Given the description of an element on the screen output the (x, y) to click on. 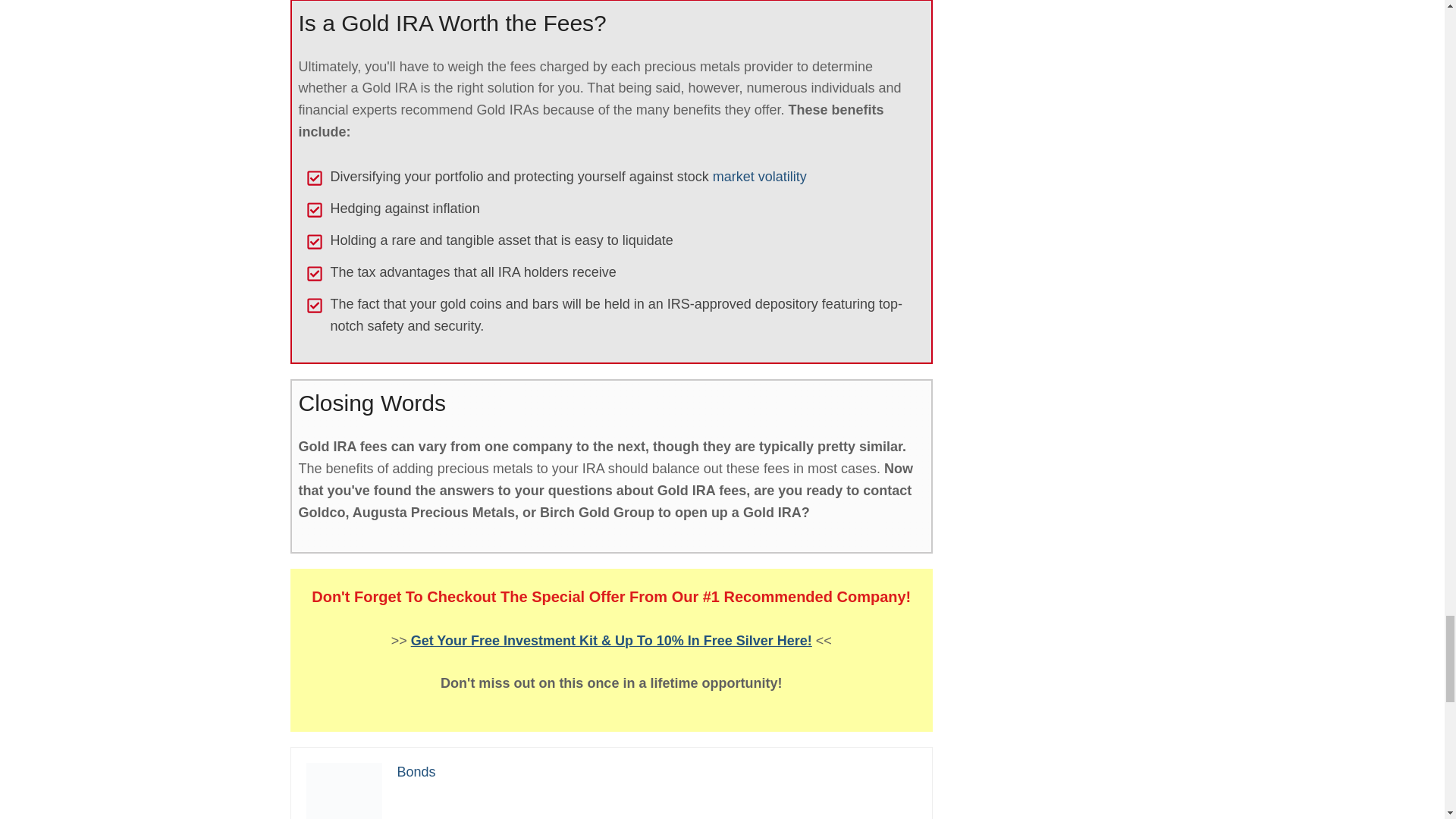
market volatility (759, 176)
Bonds (416, 771)
